Given the description of an element on the screen output the (x, y) to click on. 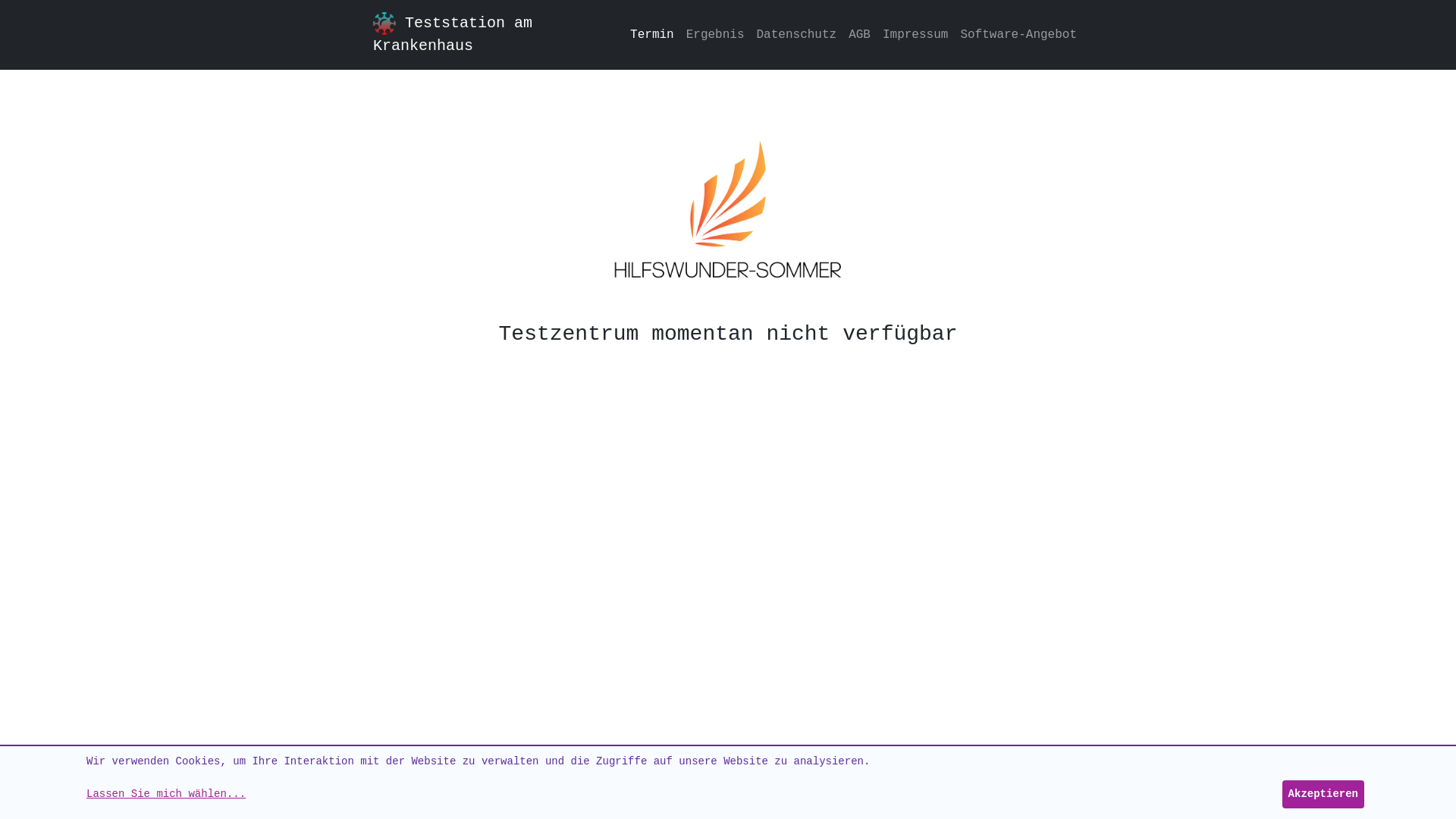
Impressum Element type: text (914, 34)
Akzeptieren Element type: text (1323, 794)
Teststation am Krankenhaus Element type: text (486, 34)
Software-Angebot Element type: text (1017, 34)
AGB Element type: text (859, 34)
Termin Element type: text (652, 34)
Datenschutz Element type: text (796, 34)
Ergebnis Element type: text (715, 34)
